Given the description of an element on the screen output the (x, y) to click on. 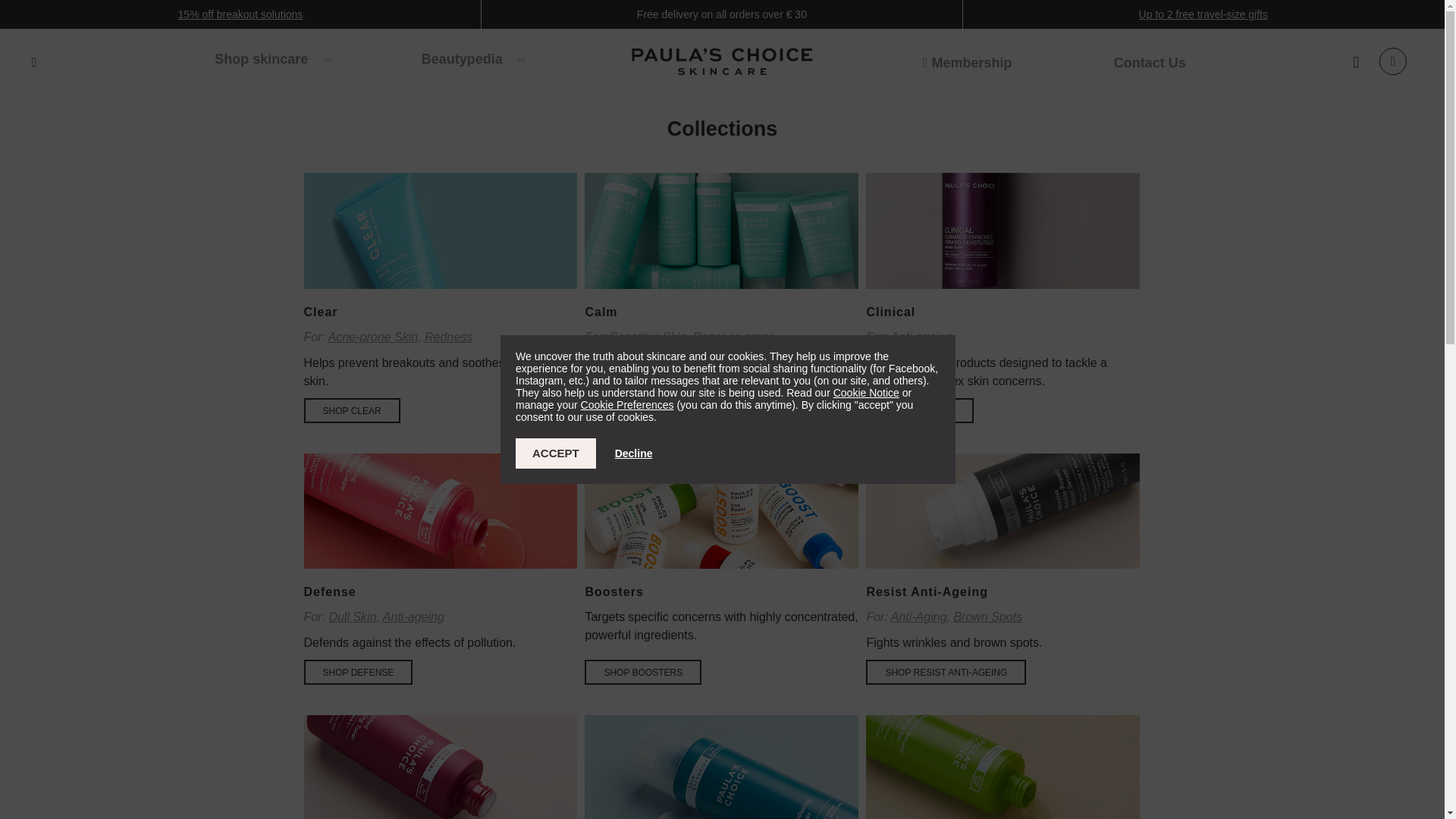
Clinical (1003, 237)
Become a member (967, 62)
Clear (350, 410)
Up to 2 free travel-size gifts (1203, 14)
Calm (630, 410)
Clear (439, 237)
Search (33, 62)
Calm (722, 237)
Back to Homepage (721, 64)
Shop skincare (272, 58)
